Given the description of an element on the screen output the (x, y) to click on. 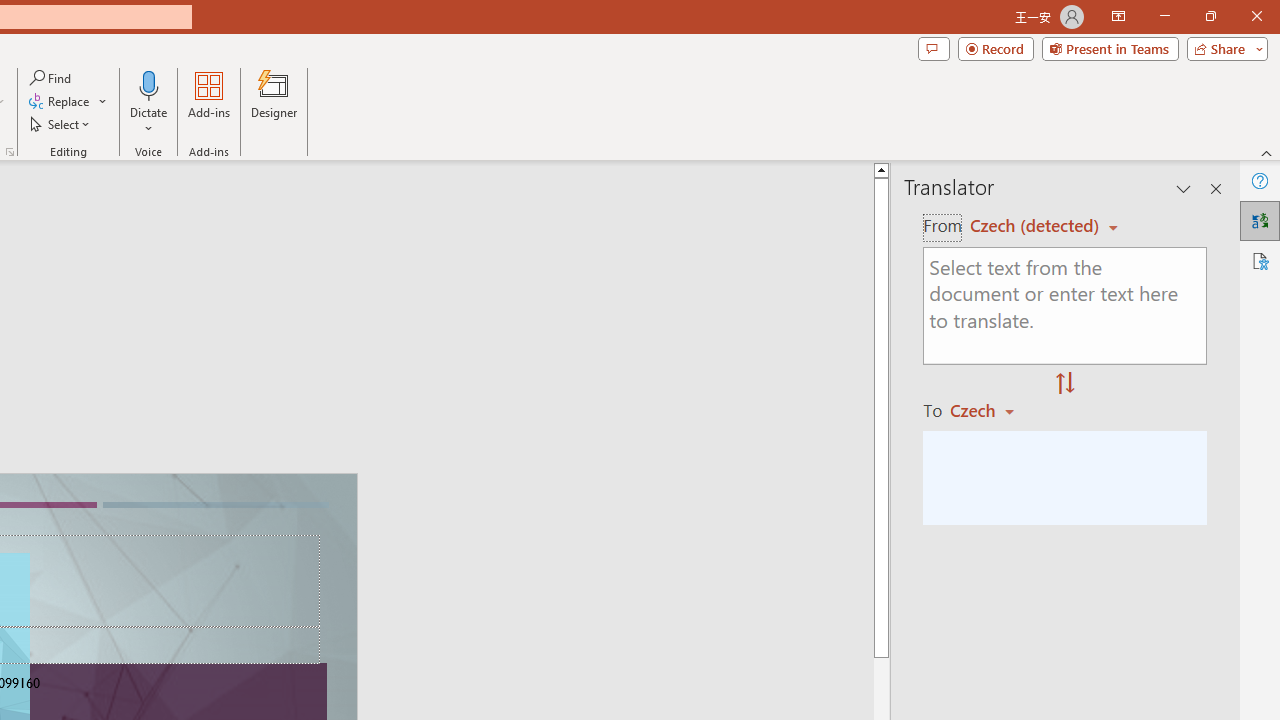
Czech (991, 409)
